Given the description of an element on the screen output the (x, y) to click on. 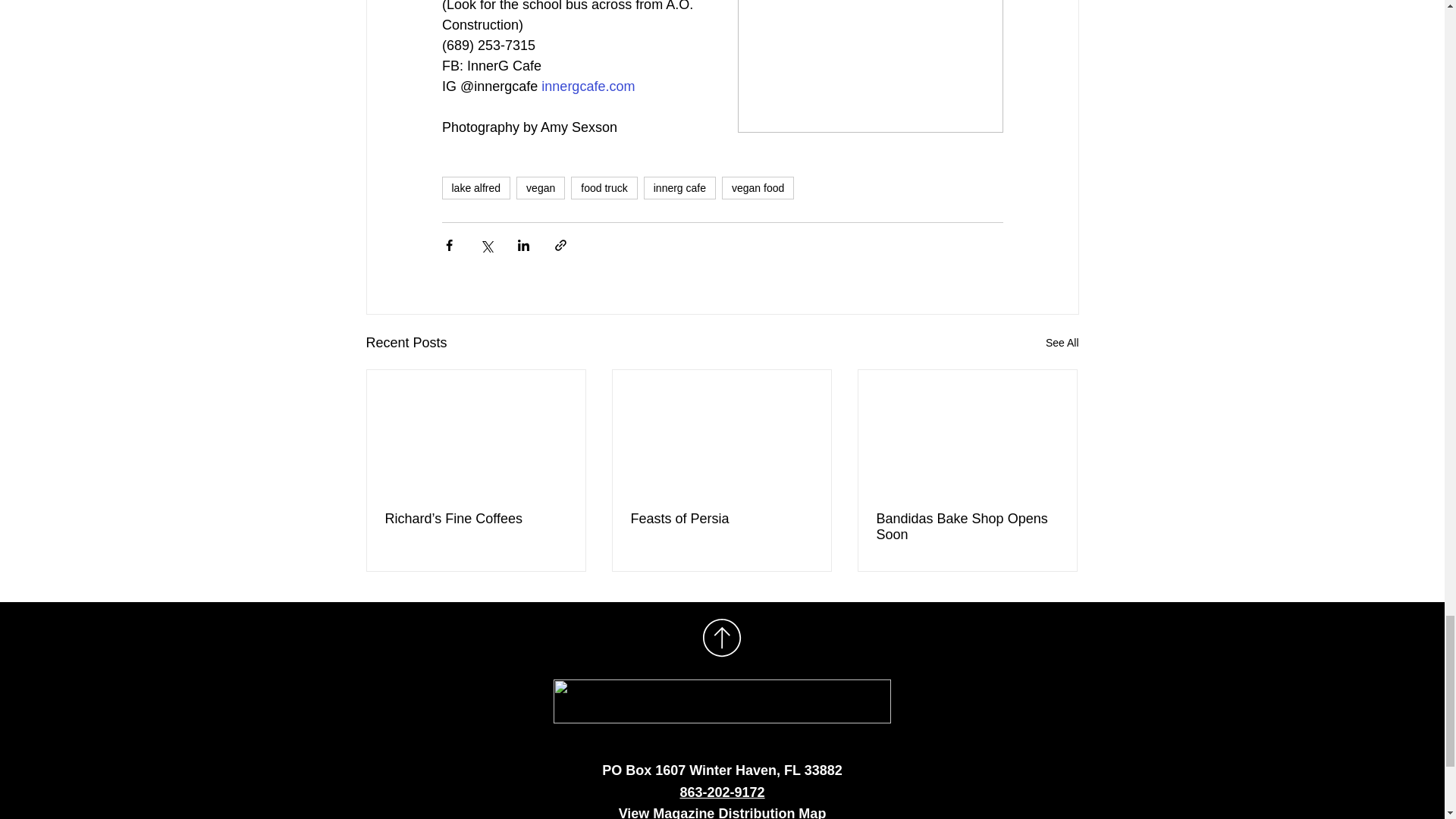
innerg cafe (679, 187)
Feasts of Persia (721, 519)
food truck (603, 187)
lake alfred (476, 187)
See All (1061, 342)
innergcafe.com (587, 86)
vegan (540, 187)
vegan food (757, 187)
